Given the description of an element on the screen output the (x, y) to click on. 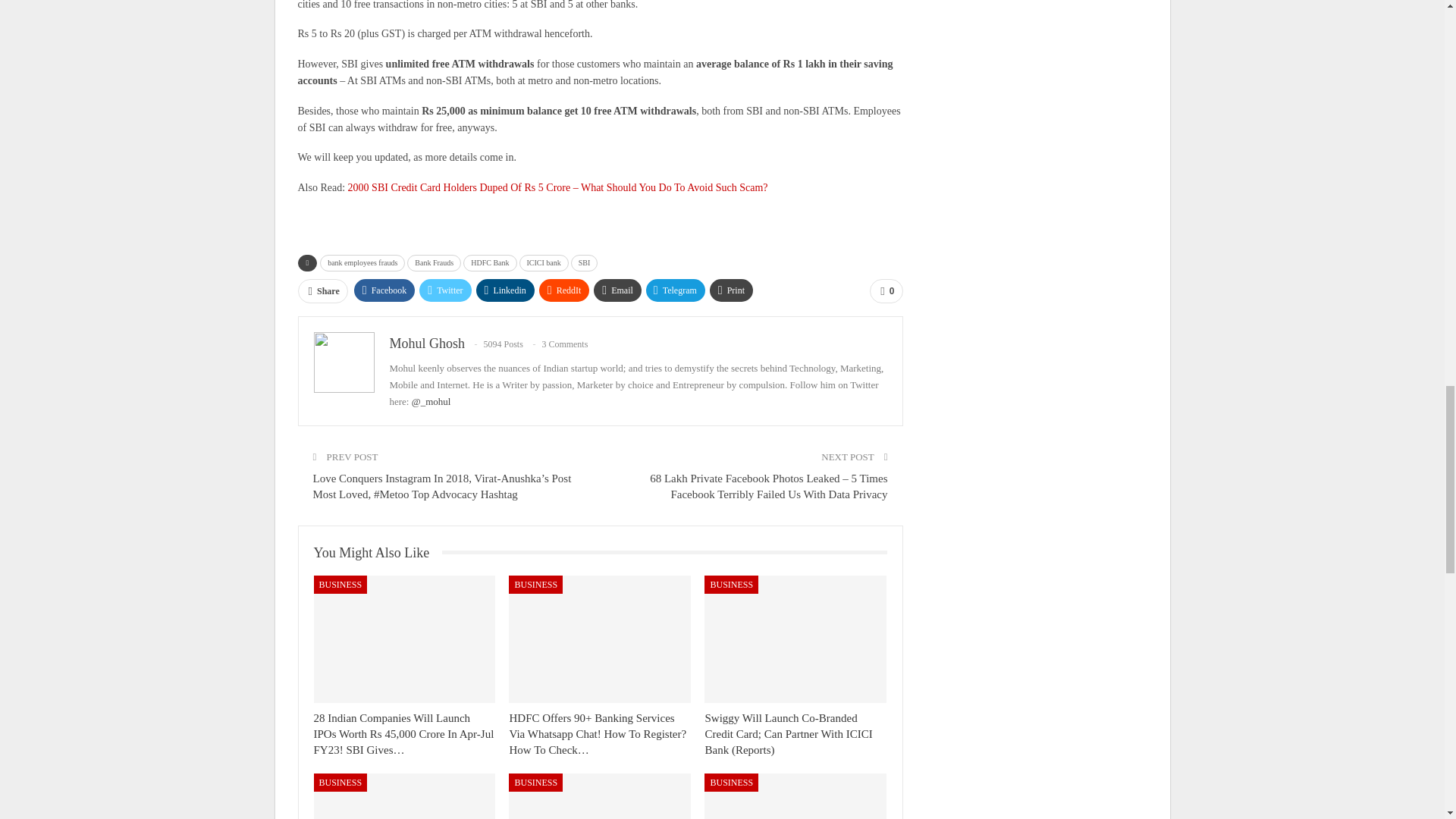
Bank Frauds (434, 262)
bank employees frauds (362, 262)
